Given the description of an element on the screen output the (x, y) to click on. 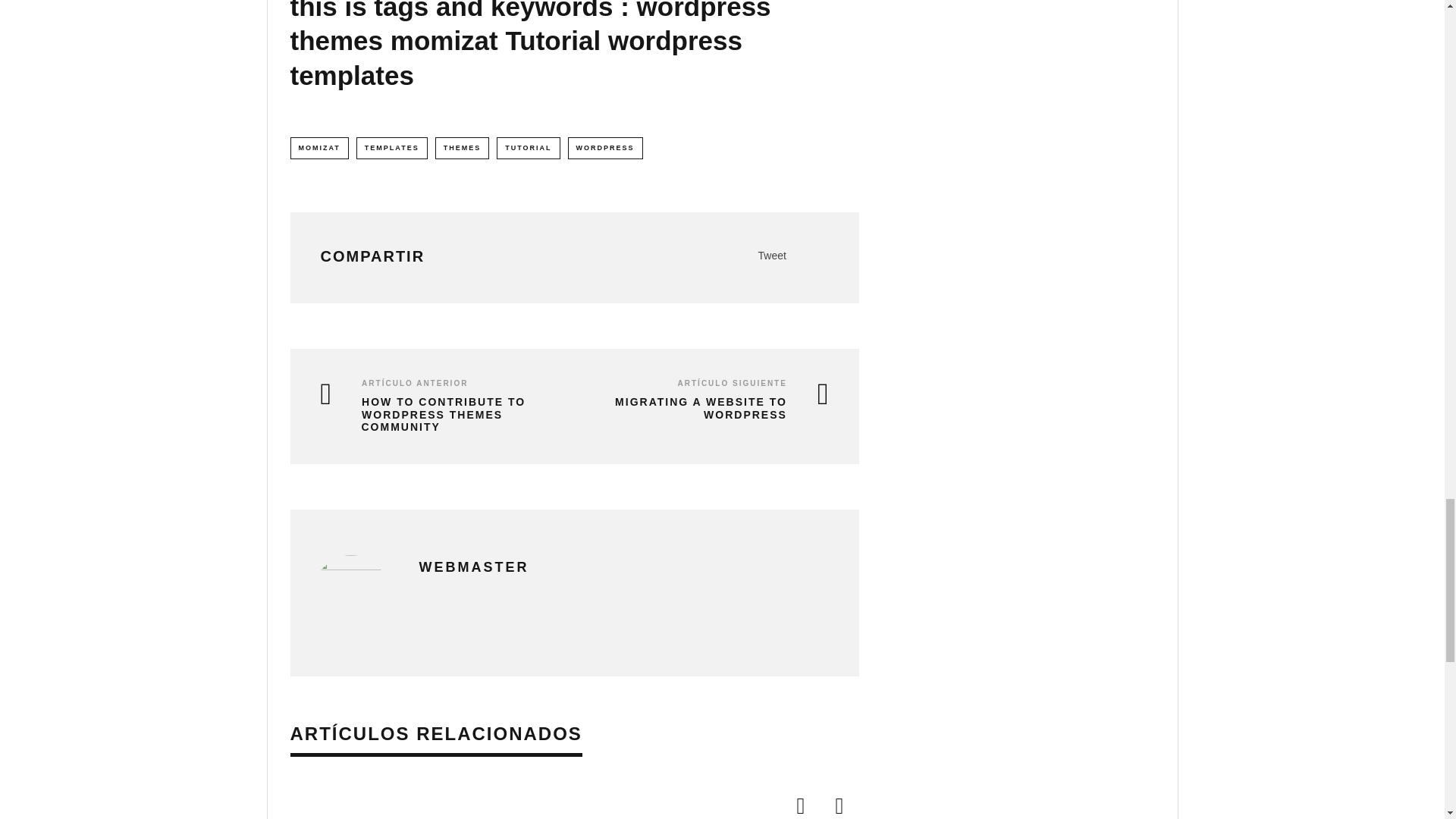
MIGRATING A WEBSITE TO WORDPRESS (705, 408)
TUTORIAL (527, 147)
WORDPRESS (605, 147)
TEMPLATES (392, 147)
Tweet (772, 255)
THEMES (462, 147)
HOW TO CONTRIBUTE TO WORDPRESS THEMES COMMUNITY (435, 414)
WEBMASTER (473, 566)
MOMIZAT (318, 147)
